Given the description of an element on the screen output the (x, y) to click on. 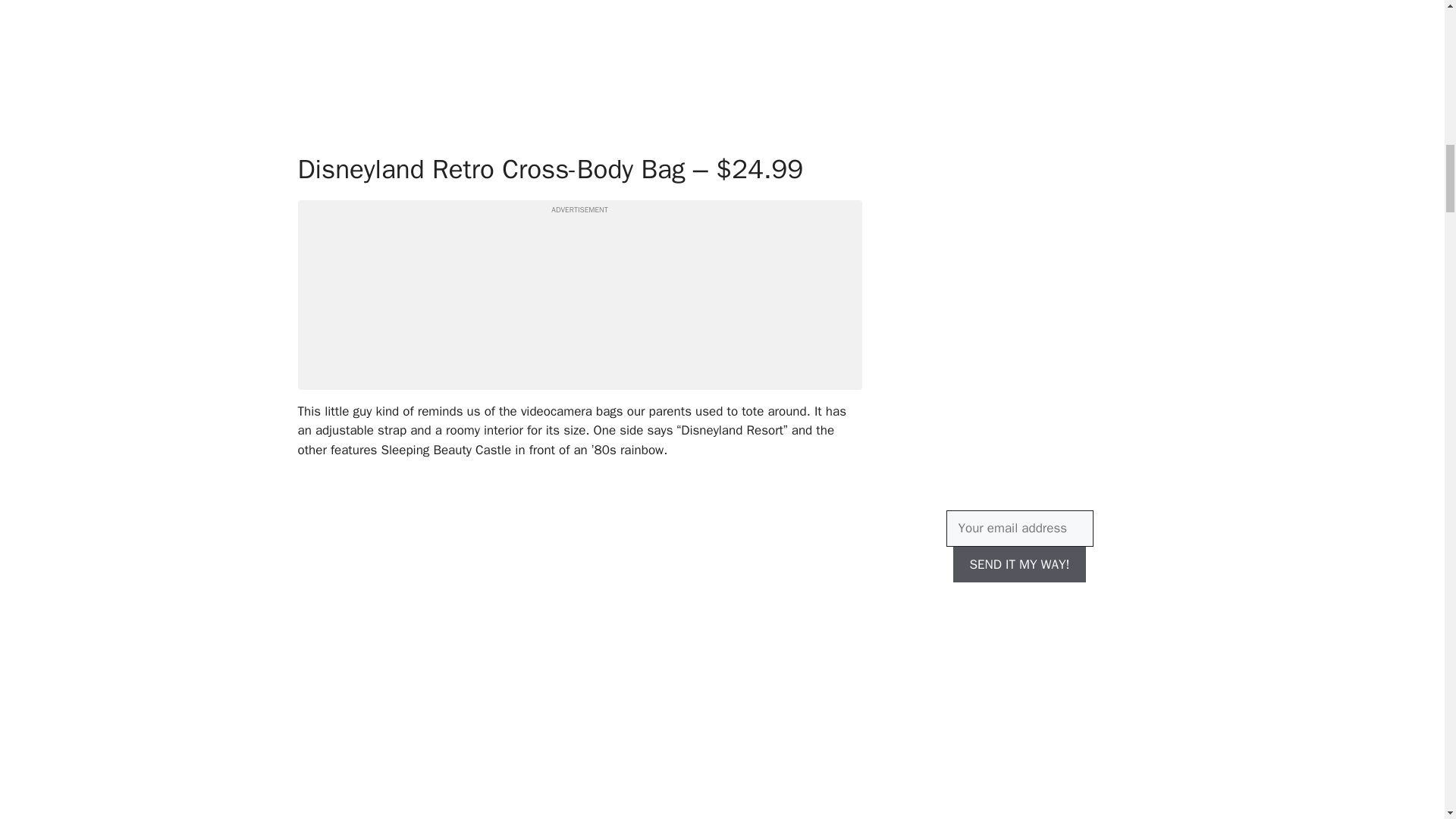
SEND IT MY WAY! (1018, 565)
